Given the description of an element on the screen output the (x, y) to click on. 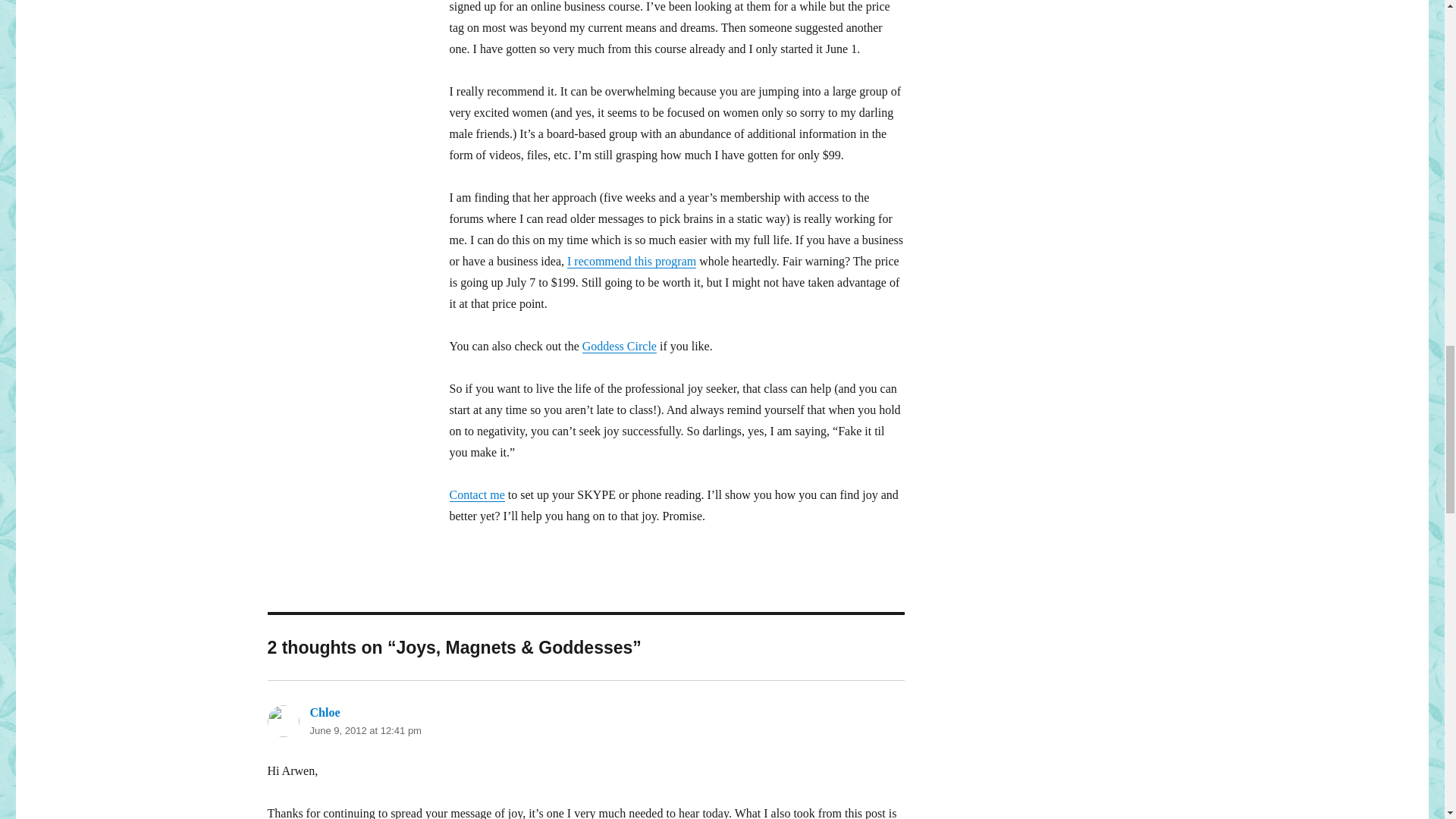
June 9, 2012 at 12:41 pm (364, 730)
I recommend this program (631, 260)
Goddess Circle (619, 345)
Contact me (475, 494)
Chloe (323, 712)
